Given the description of an element on the screen output the (x, y) to click on. 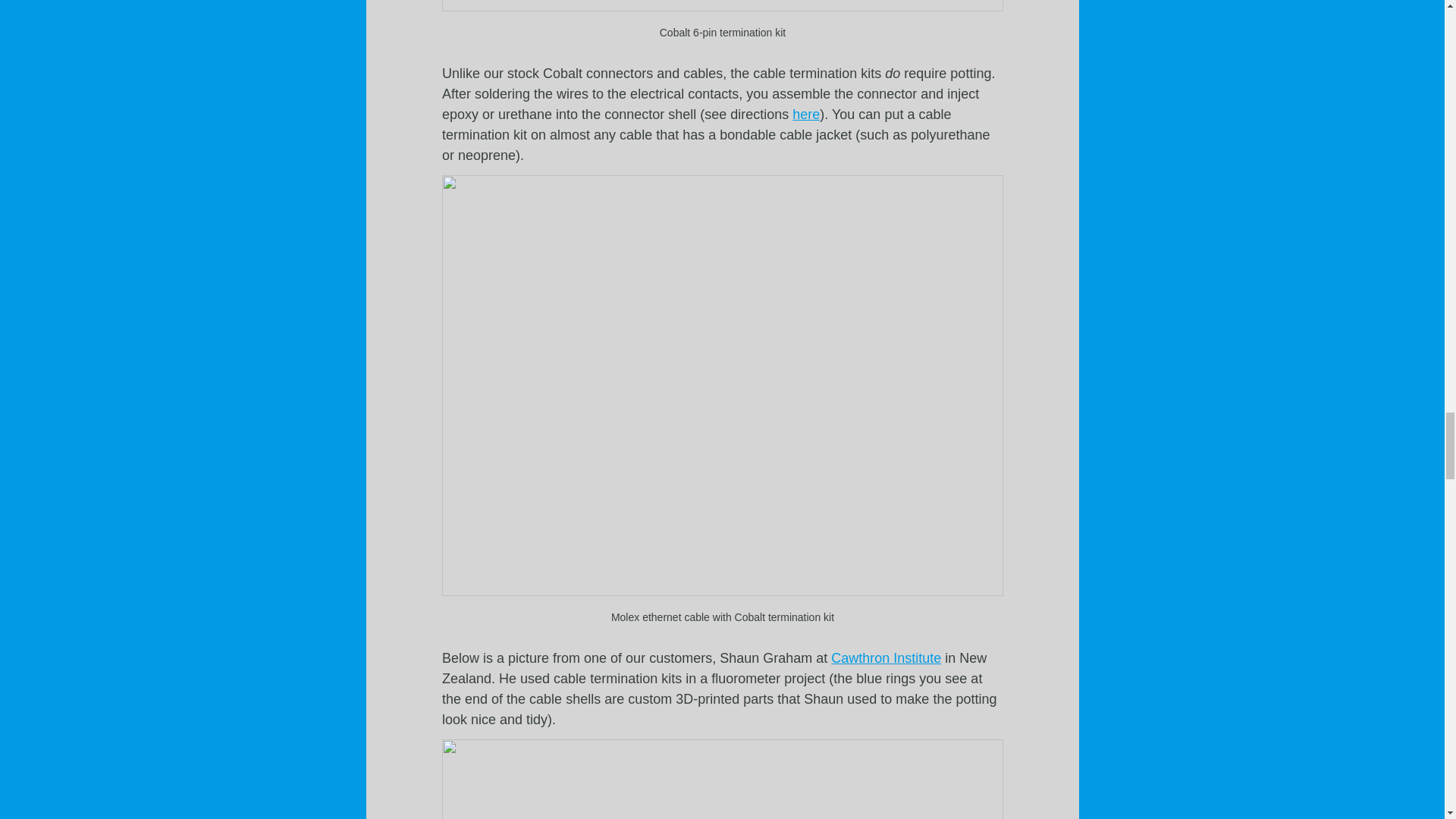
here (805, 114)
Cawthron Institute (885, 657)
